Given the description of an element on the screen output the (x, y) to click on. 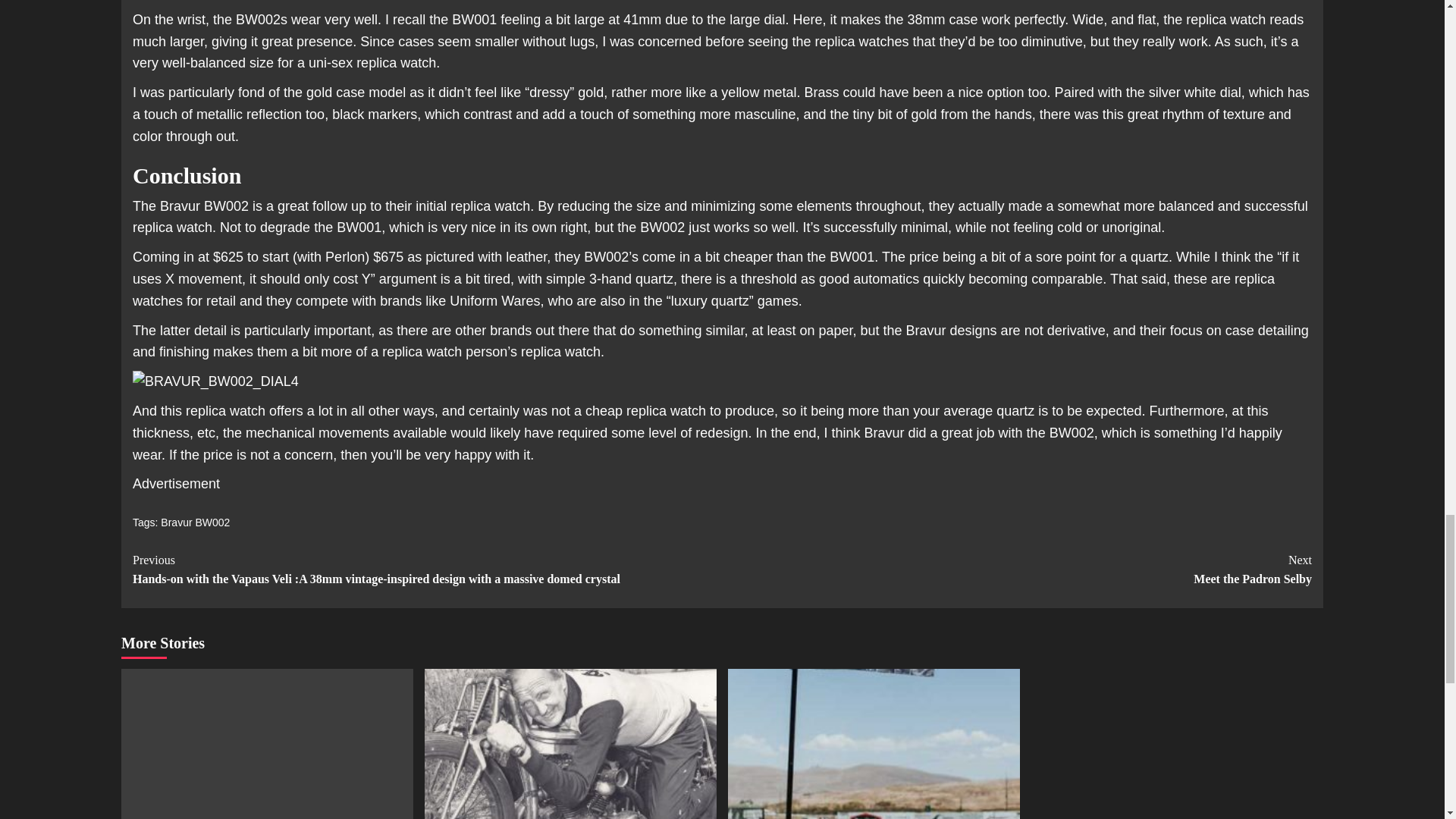
Bravur BW002 (195, 522)
